Given the description of an element on the screen output the (x, y) to click on. 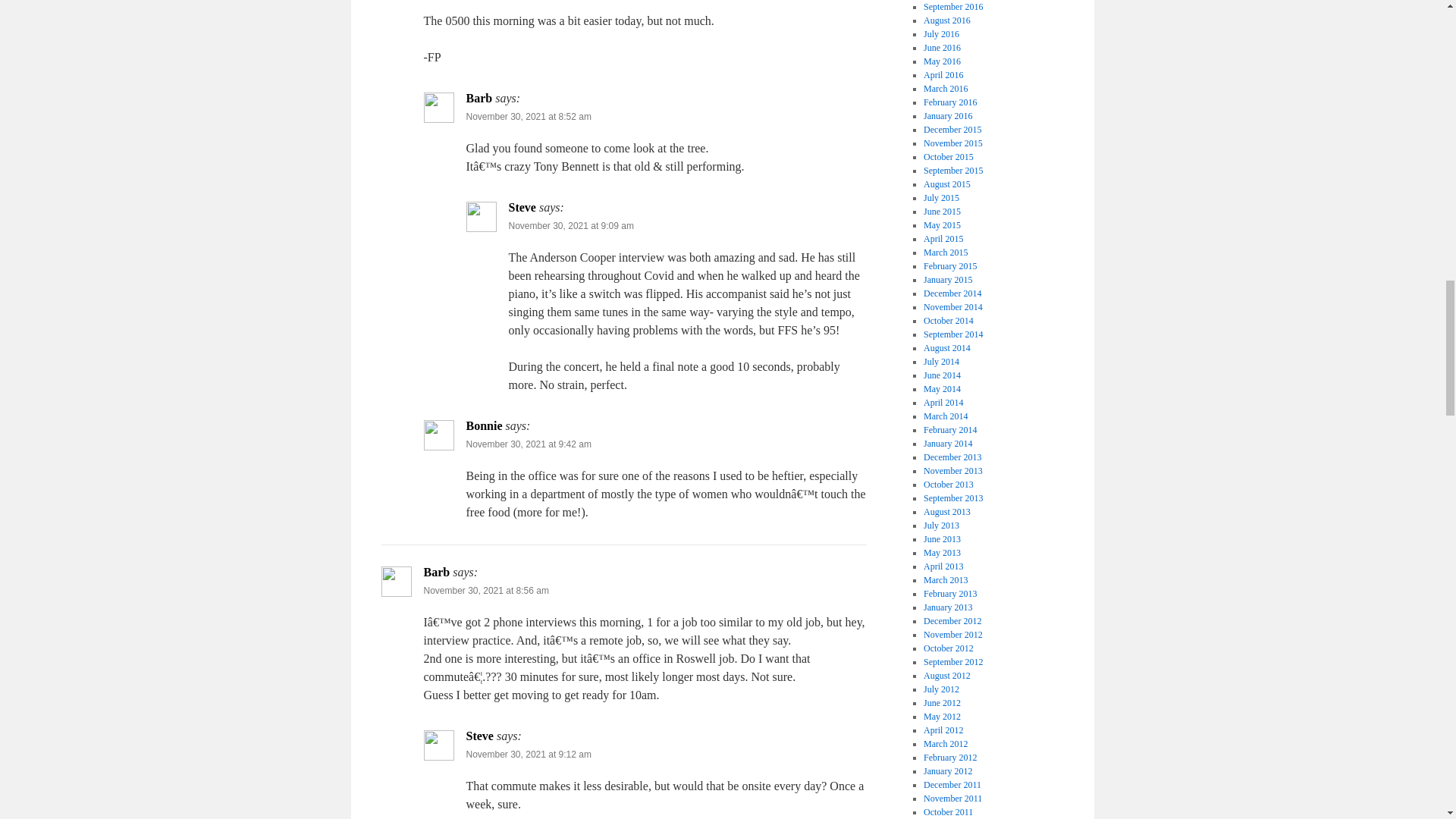
November 30, 2021 at 8:52 am (528, 116)
November 30, 2021 at 9:09 am (570, 225)
November 30, 2021 at 8:56 am (485, 590)
November 30, 2021 at 9:42 am (528, 443)
November 30, 2021 at 9:12 am (528, 754)
